Given the description of an element on the screen output the (x, y) to click on. 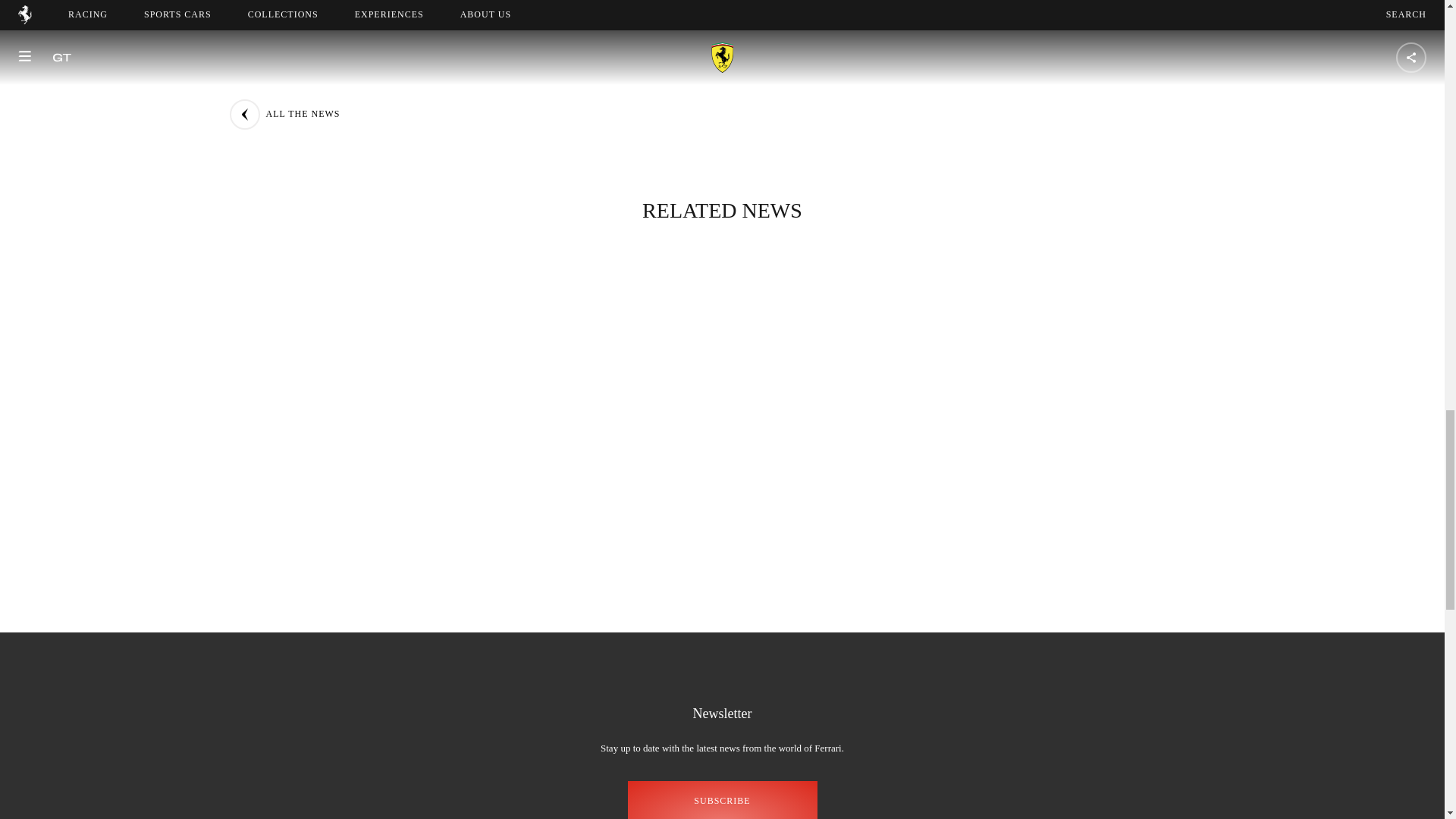
View all (630, 102)
AF CORSE (757, 70)
INTERNATIONAL GT OPEN (1018, 70)
APM MONACO (868, 70)
LOUIS PRETTE (516, 102)
SUBSCRIBE (721, 800)
488 GT3 EVO 2020 (638, 70)
SEASON 2020 (512, 70)
